Given the description of an element on the screen output the (x, y) to click on. 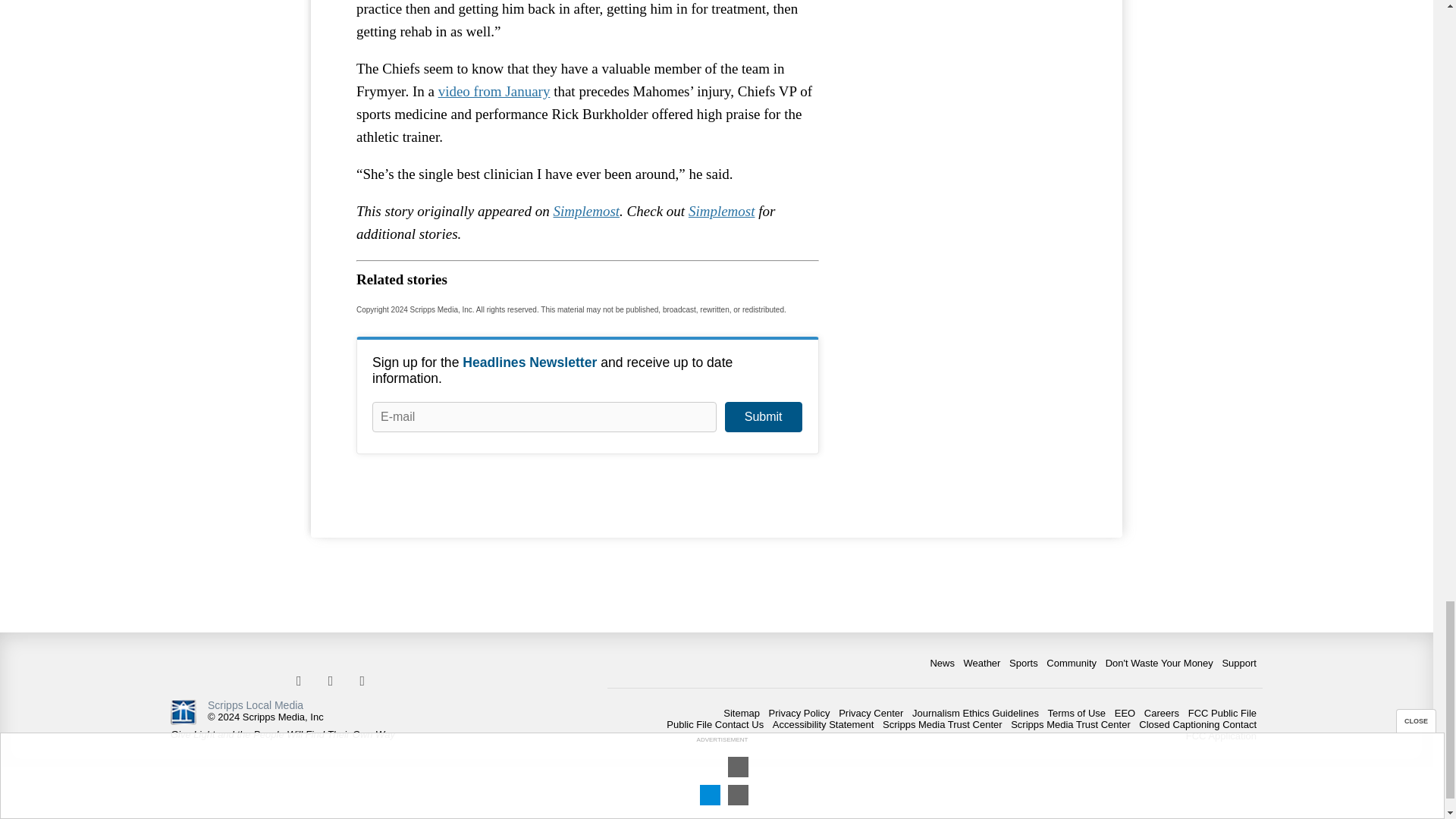
Submit (763, 417)
